Given the description of an element on the screen output the (x, y) to click on. 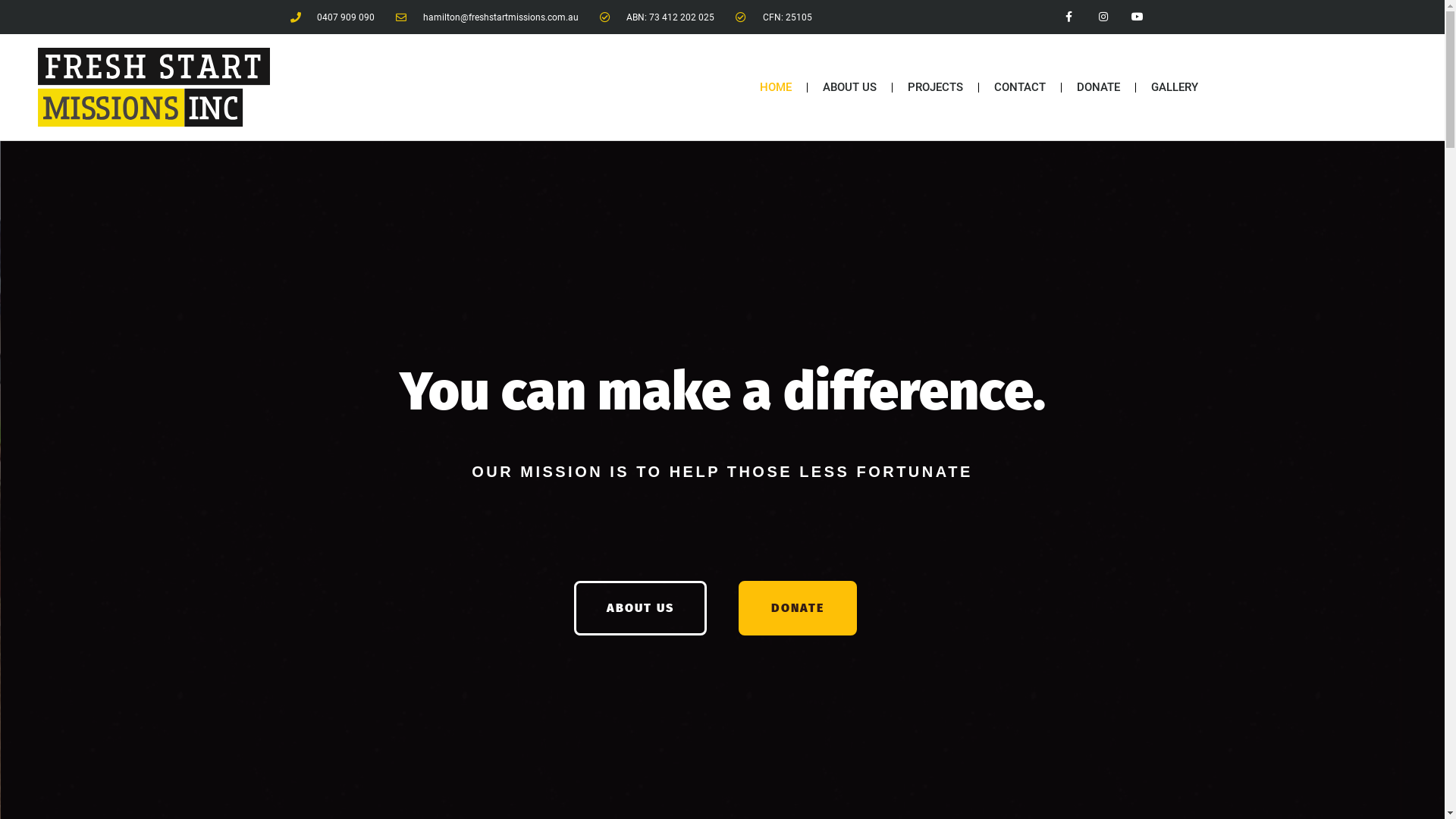
ABOUT US Element type: text (639, 607)
CONTACT Element type: text (1019, 87)
DONATE Element type: text (1098, 87)
PROJECTS Element type: text (935, 87)
0407 909 090 Element type: text (331, 17)
GALLERY Element type: text (1174, 87)
HOME Element type: text (775, 87)
DONATE Element type: text (797, 607)
ABOUT US Element type: text (849, 87)
